Given the description of an element on the screen output the (x, y) to click on. 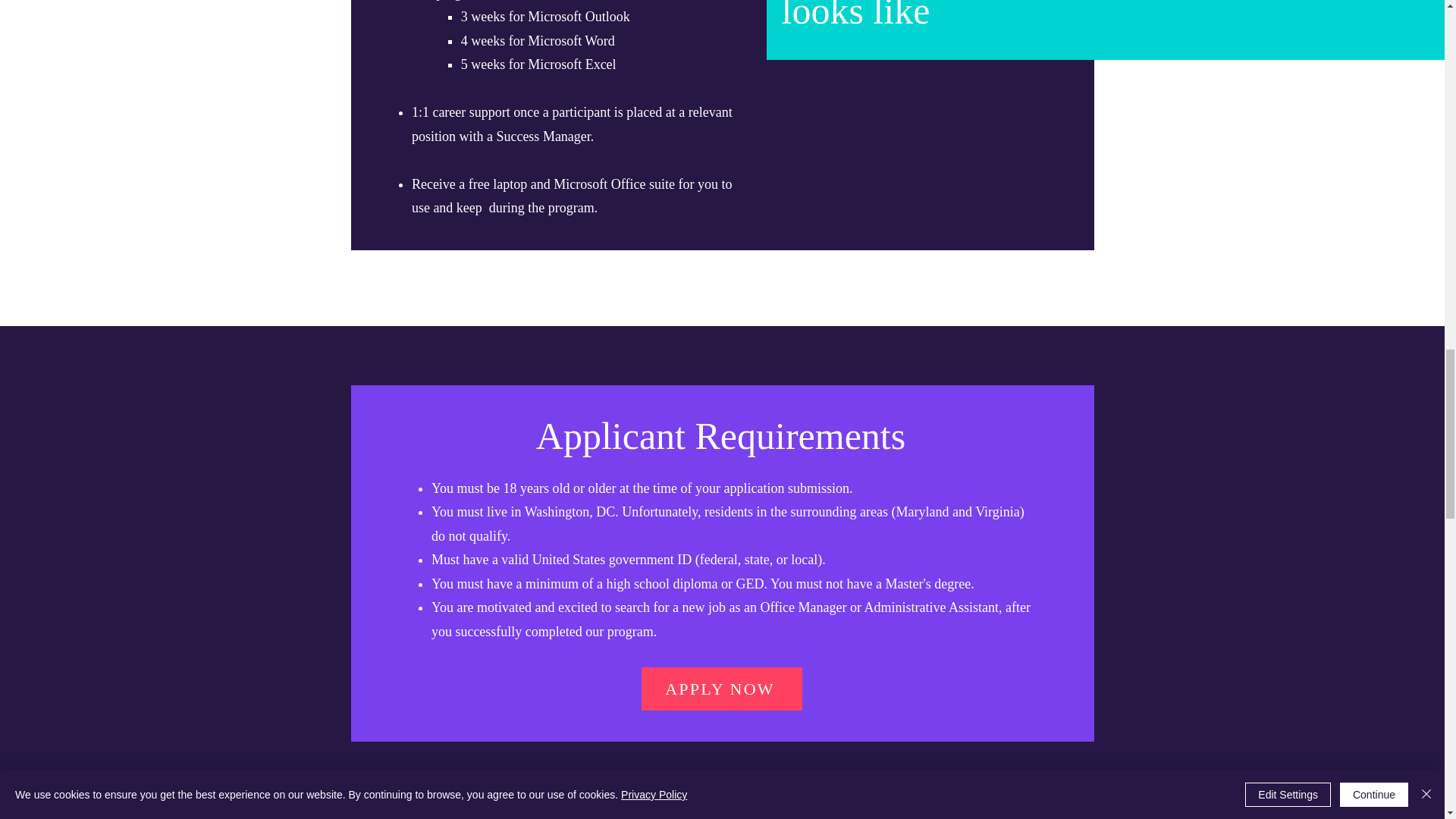
APPLY NOW (722, 688)
